Given the description of an element on the screen output the (x, y) to click on. 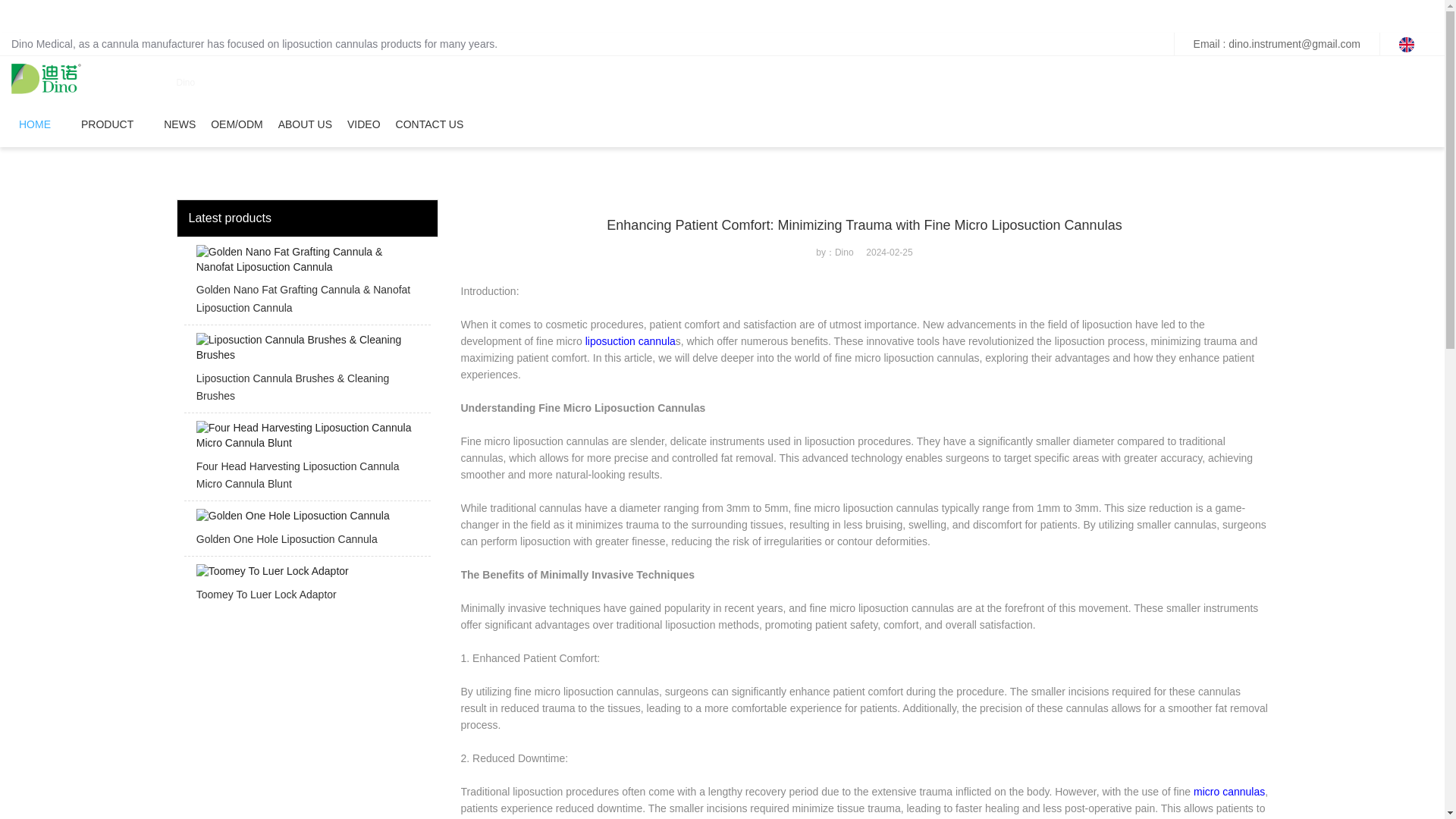
CONTACT US (430, 123)
ABOUT US (304, 123)
VIDEO (363, 123)
NEWS (179, 123)
PRODUCT (107, 123)
HOME (34, 123)
